Given the description of an element on the screen output the (x, y) to click on. 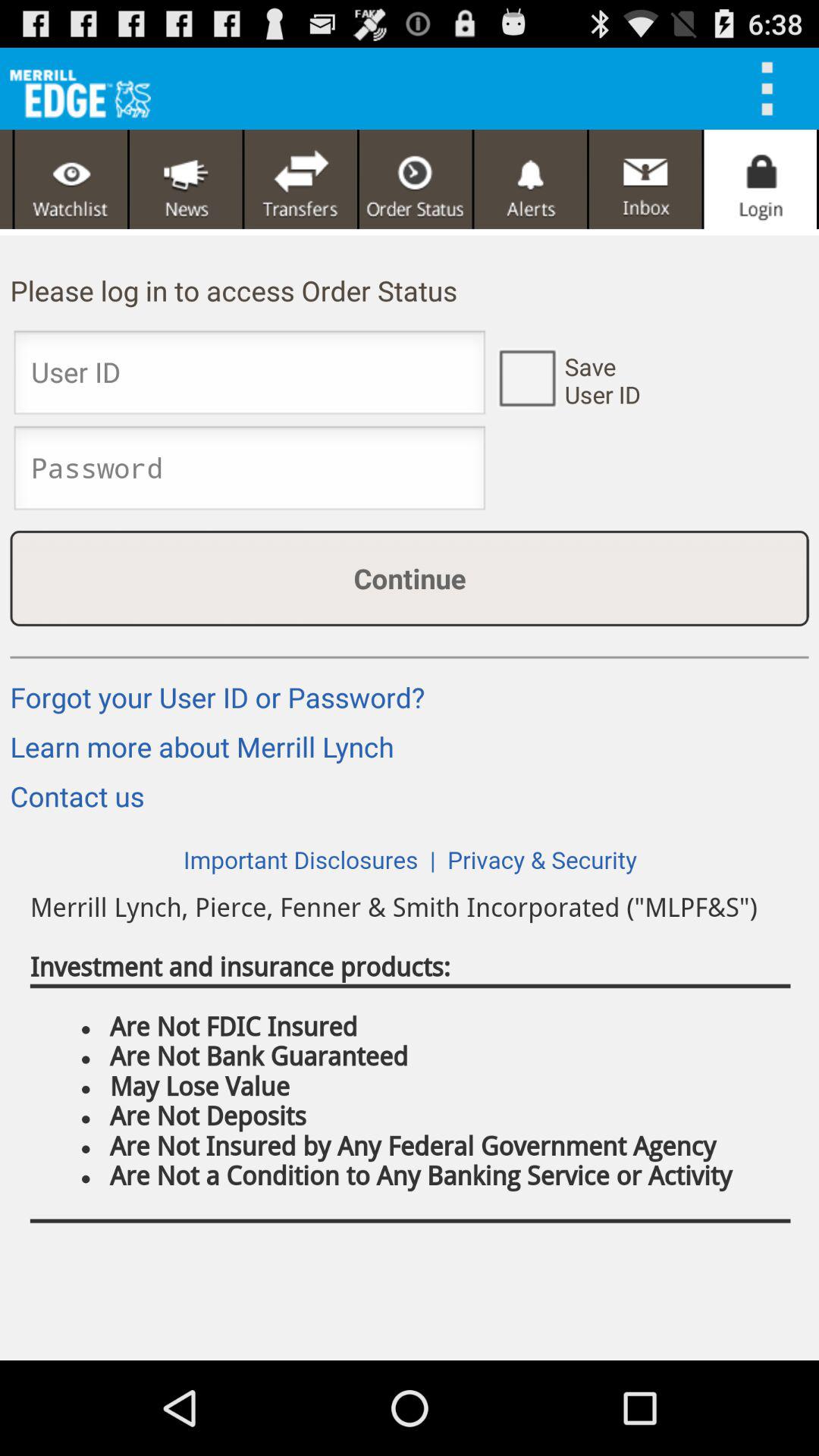
news botton (185, 179)
